Given the description of an element on the screen output the (x, y) to click on. 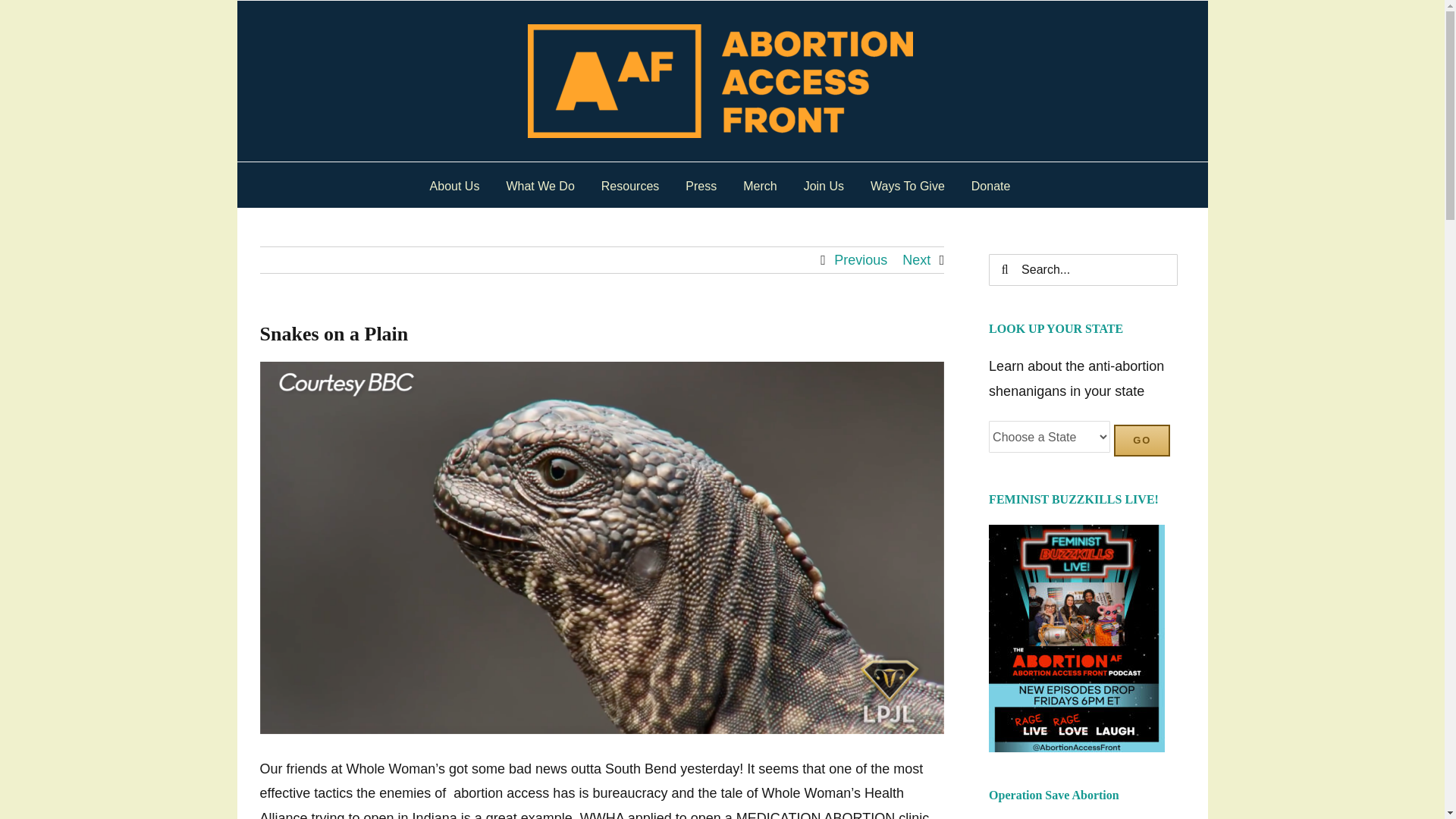
Merch (759, 184)
Donate (990, 184)
Press (700, 184)
Ways To Give (907, 184)
Join Us (823, 184)
Resources (630, 184)
About Us (454, 184)
What We Do (539, 184)
Go (1141, 440)
